Given the description of an element on the screen output the (x, y) to click on. 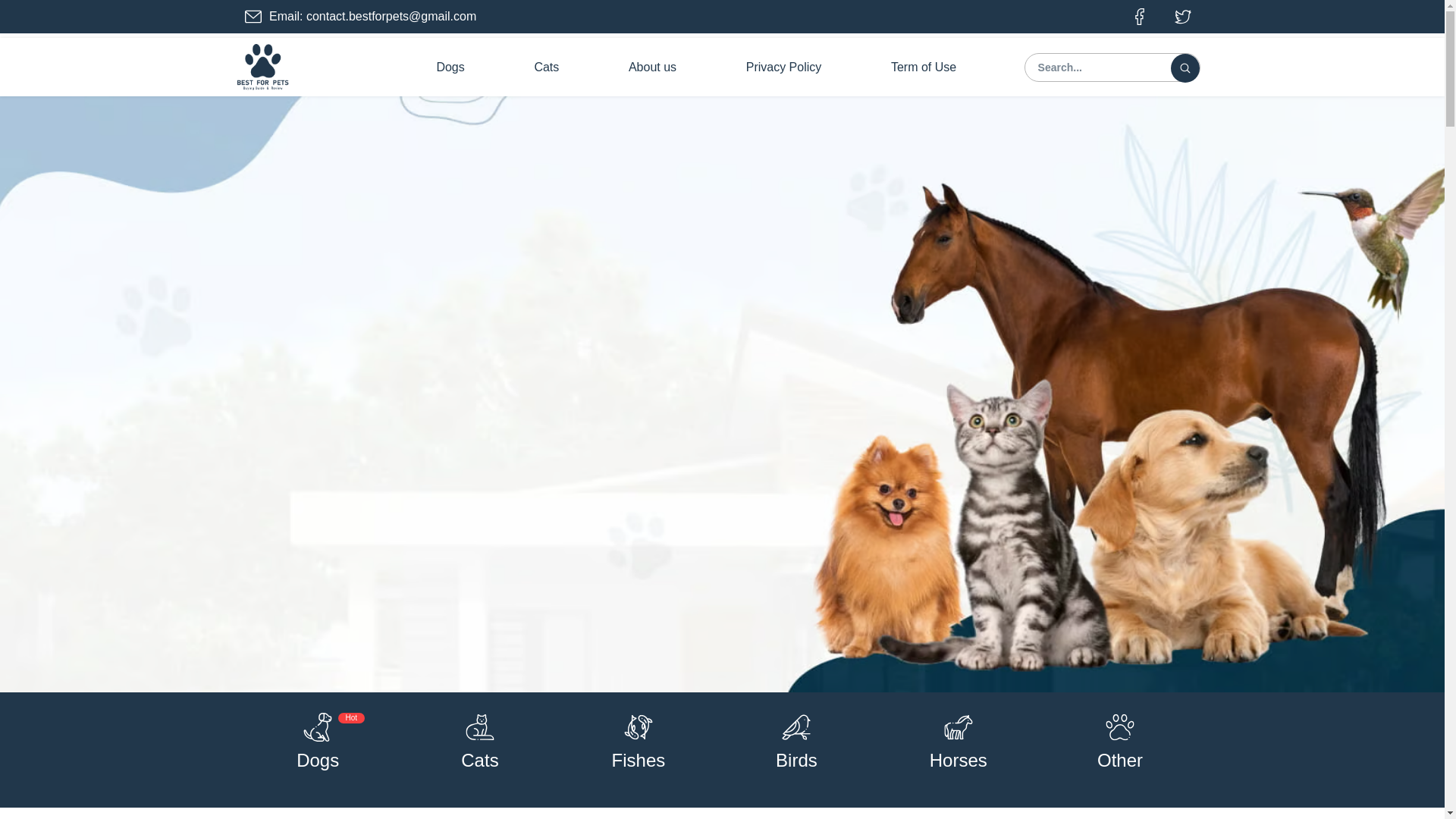
About us (652, 67)
Cats (479, 760)
Term of Use (923, 67)
Dogs (318, 760)
Privacy Policy (783, 67)
Dogs (450, 67)
Horses (958, 760)
Cats (546, 67)
Birds (796, 760)
Fishes (638, 760)
